Given the description of an element on the screen output the (x, y) to click on. 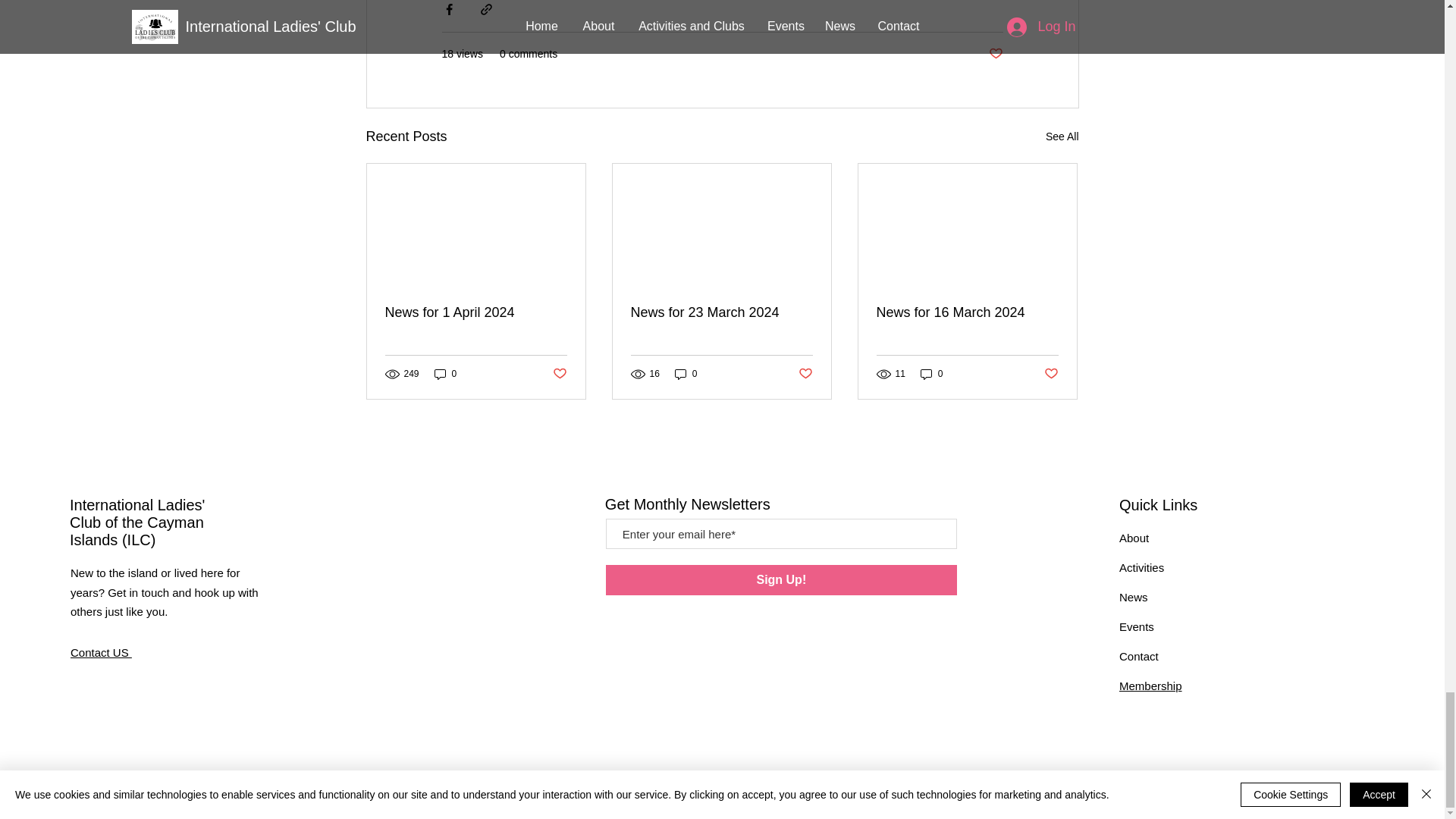
News for 1 April 2024 (476, 312)
Post not marked as liked (995, 53)
About (1133, 537)
Contact (1138, 656)
Sign Up! (780, 580)
Post not marked as liked (558, 374)
Events (1136, 626)
Activities (1141, 567)
News (1133, 596)
Contact US  (100, 652)
News for 16 March 2024 (967, 312)
See All (1061, 137)
0 (931, 373)
Post not marked as liked (1050, 374)
0 (445, 373)
